Given the description of an element on the screen output the (x, y) to click on. 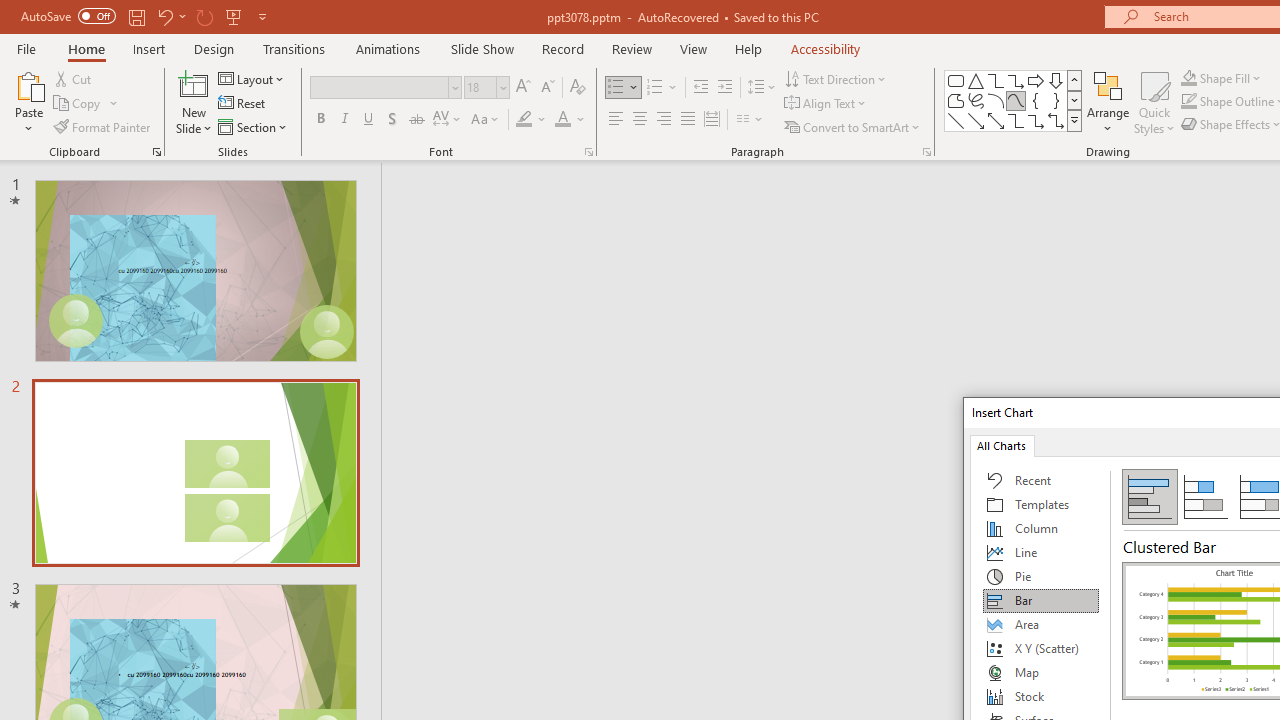
Center (639, 119)
Font Color Red (562, 119)
Decrease Indent (700, 87)
Line Arrow: Double (995, 120)
Increase Font Size (522, 87)
Columns (750, 119)
